Given the description of an element on the screen output the (x, y) to click on. 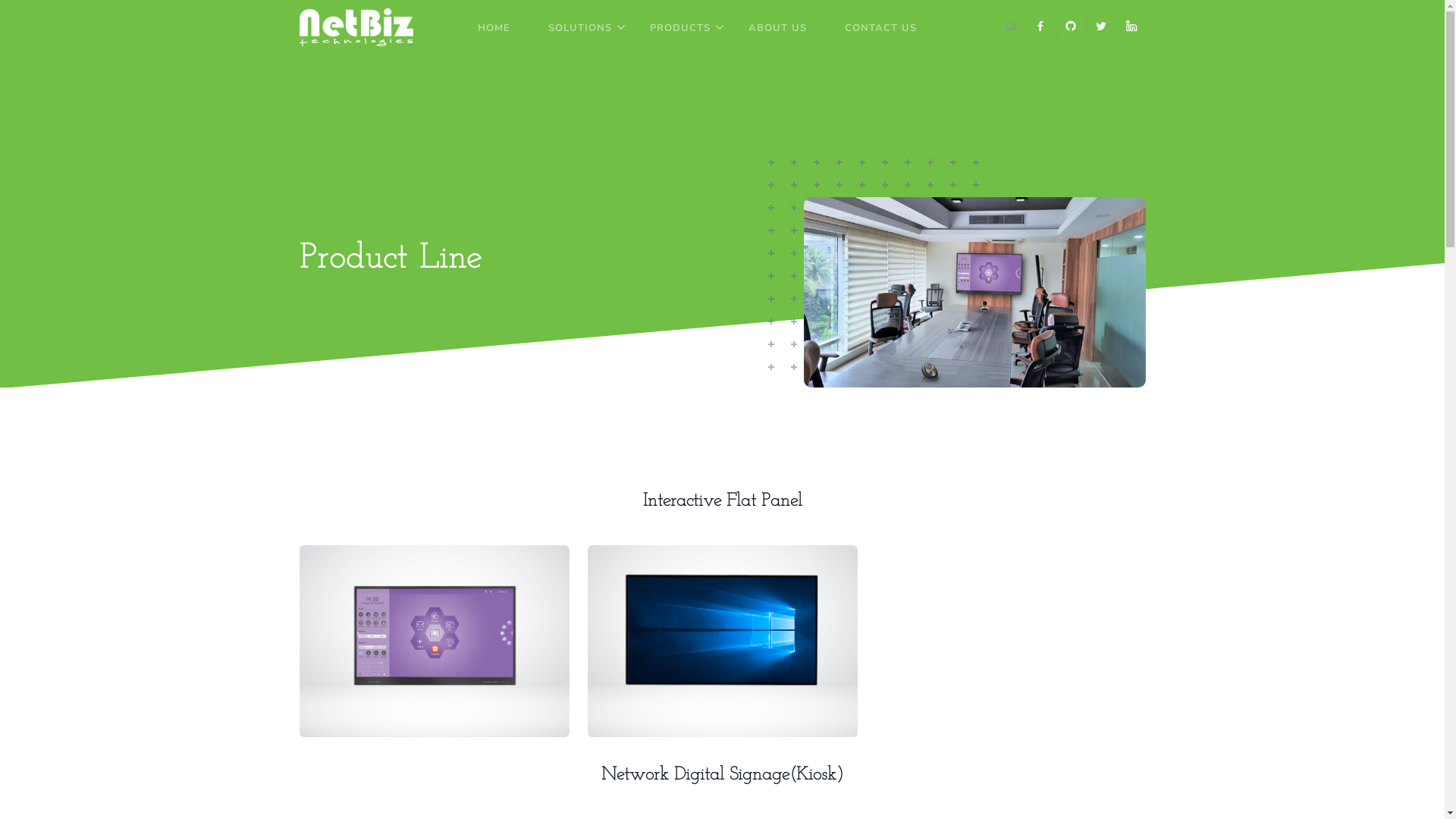
SOLUTIONS Element type: text (579, 28)
CONTACT US Element type: text (880, 28)
HOME Element type: text (493, 28)
PRODUCTS Element type: text (679, 28)
ABOUT US Element type: text (777, 28)
